Given the description of an element on the screen output the (x, y) to click on. 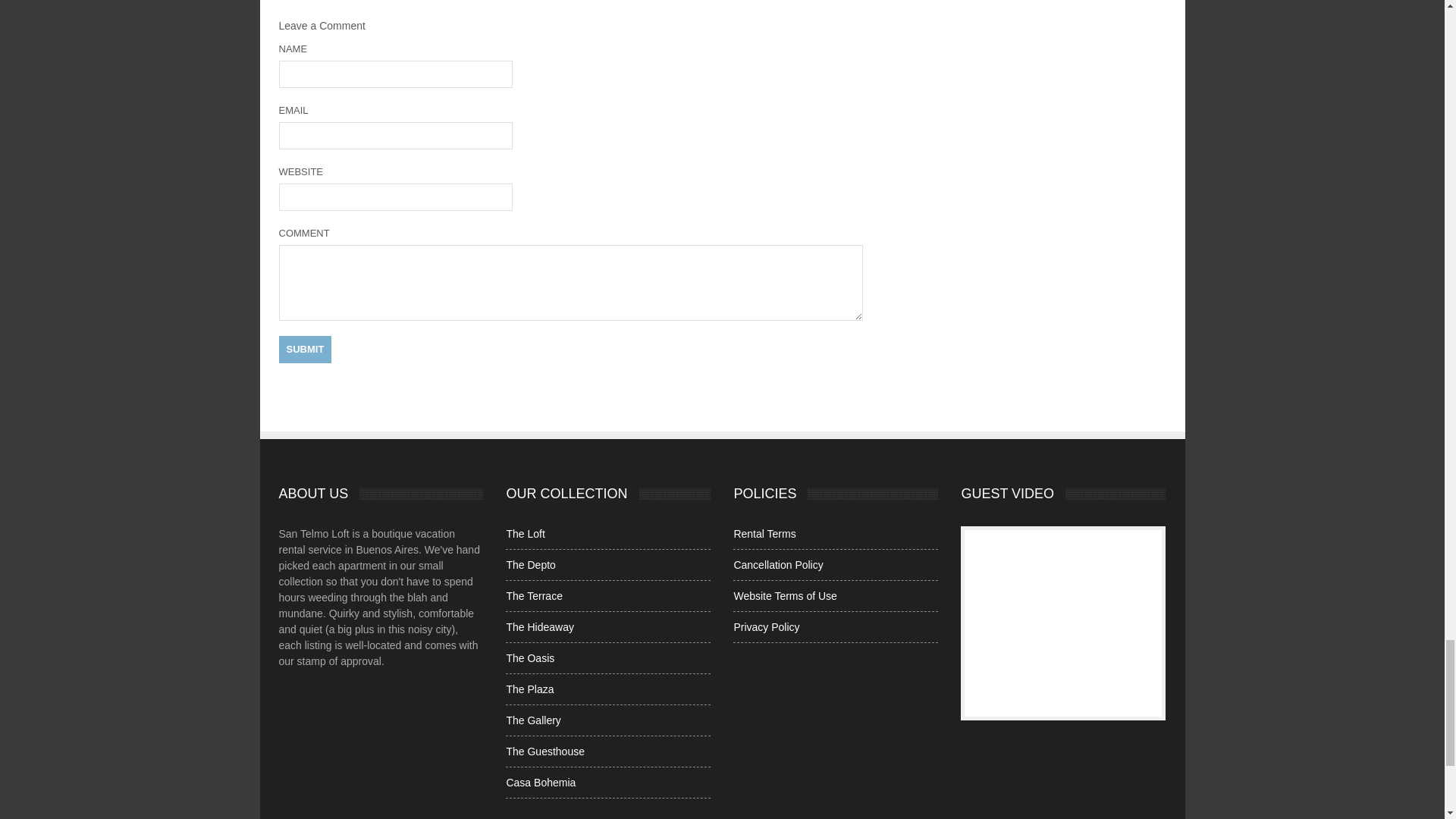
Submit (305, 349)
